Given the description of an element on the screen output the (x, y) to click on. 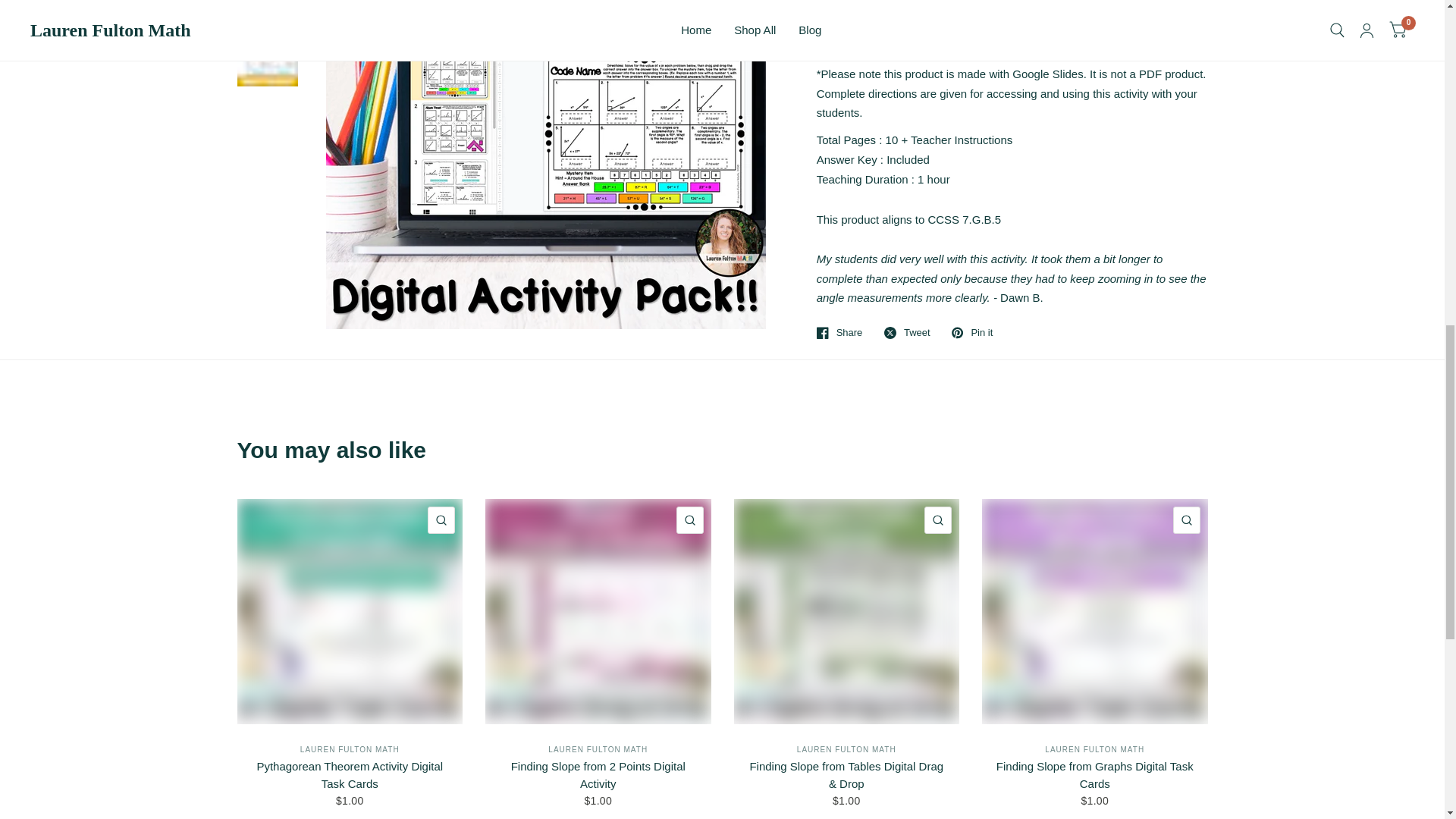
Pythagorean Theorem Activity Digital Task Cards (349, 775)
Tweet (906, 332)
Lauren Fulton Math (597, 749)
LAUREN FULTON MATH (348, 749)
Finding Slope from 2 Points Digital Activity (598, 775)
LAUREN FULTON MATH (1094, 749)
Share (839, 332)
Pythagorean Theorem Activity Digital Task Cards (349, 611)
LAUREN FULTON MATH (846, 749)
Finding Slope from 2 Points Digital Activity (598, 775)
